Given the description of an element on the screen output the (x, y) to click on. 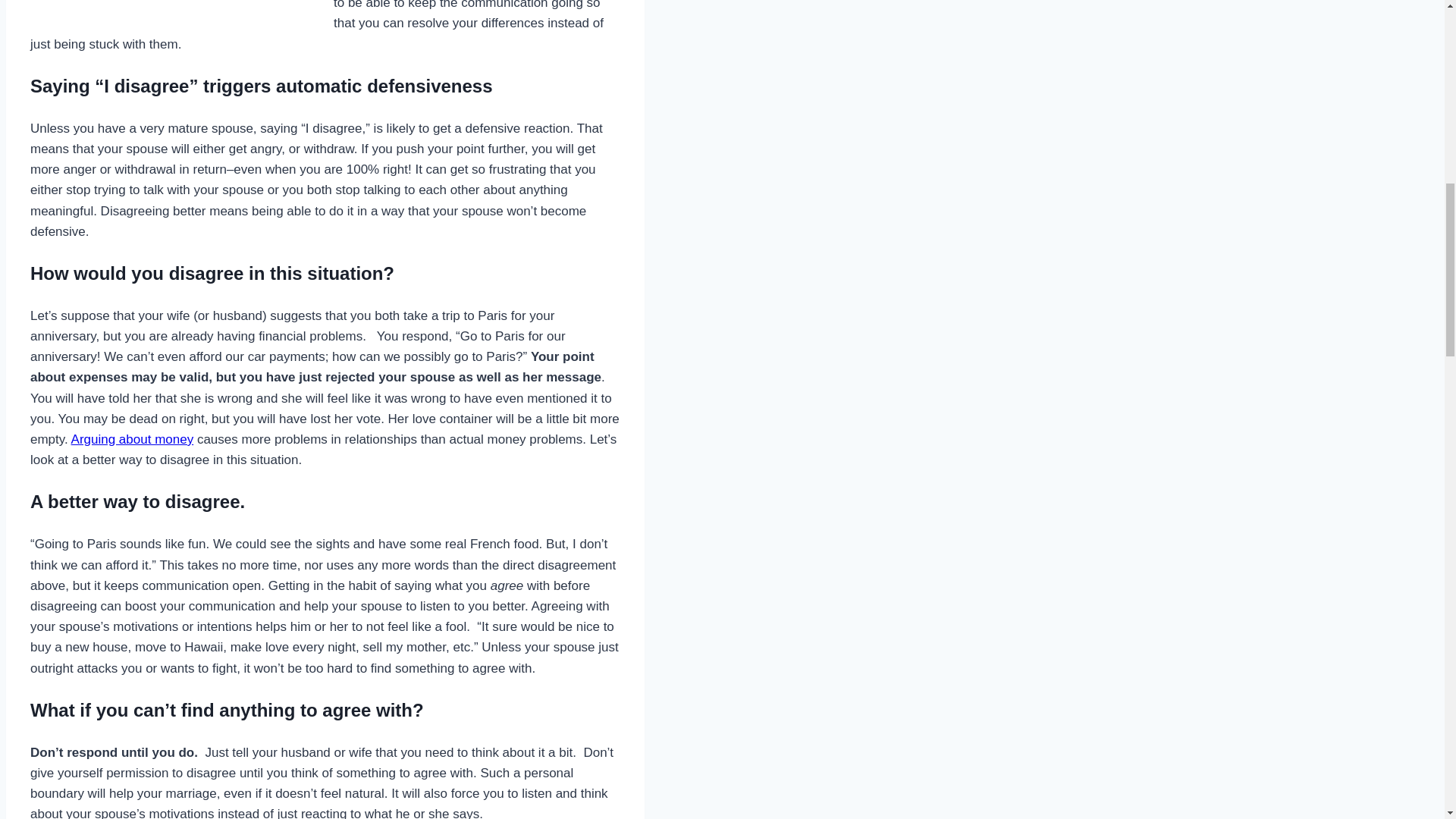
Arguing about money (132, 439)
